Given the description of an element on the screen output the (x, y) to click on. 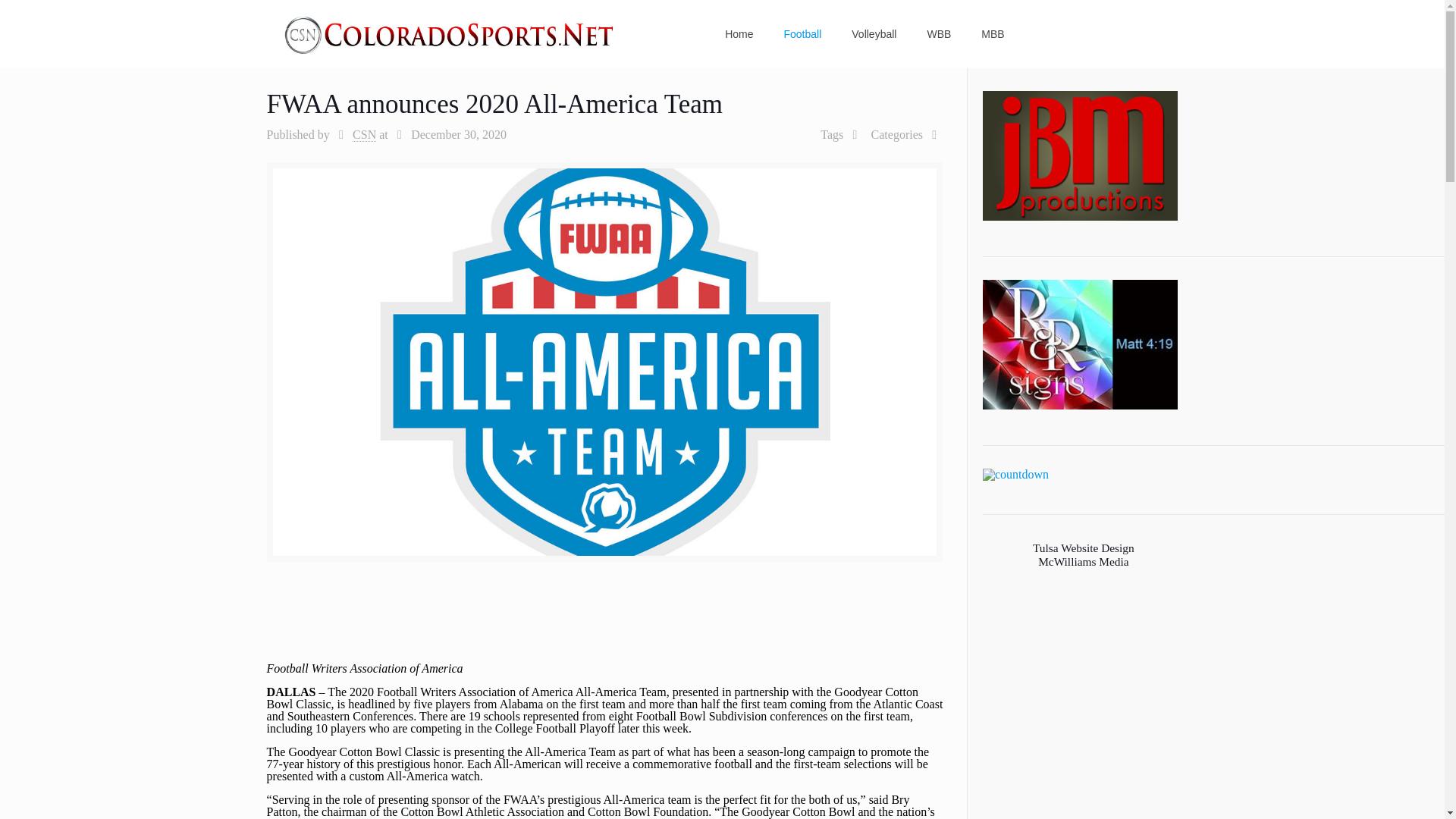
Advertisement (603, 625)
Colorado Sports (449, 33)
JBM Productions (1079, 155)
FCA (1015, 474)
